Given the description of an element on the screen output the (x, y) to click on. 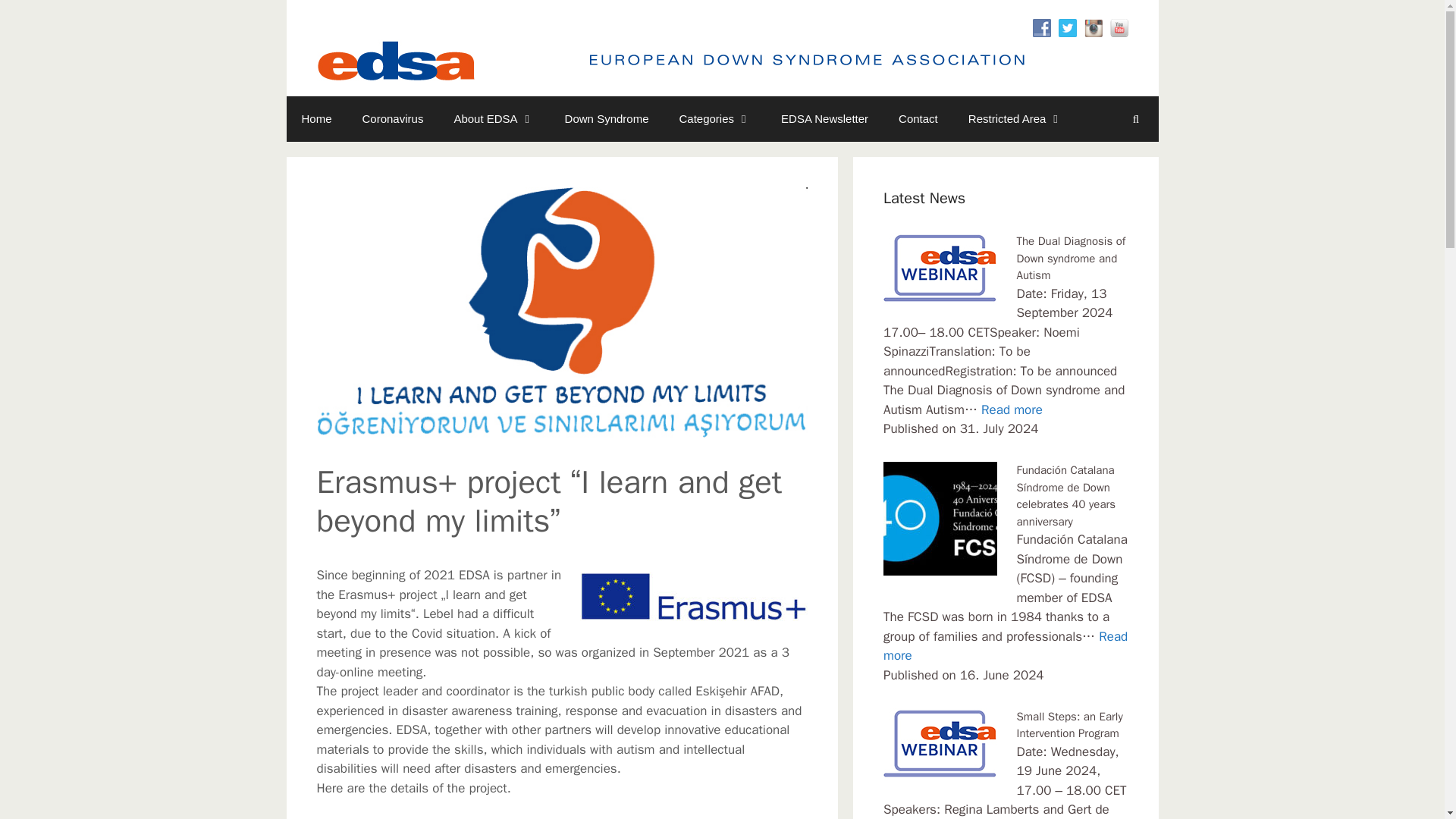
 YouTube (1118, 27)
 Twitter (1067, 27)
 Instagram (1093, 27)
About EDSA (493, 118)
Home (316, 118)
Categories (715, 118)
Coronavirus (393, 118)
Down Syndrome (606, 118)
 Facebook (1041, 27)
